Given the description of an element on the screen output the (x, y) to click on. 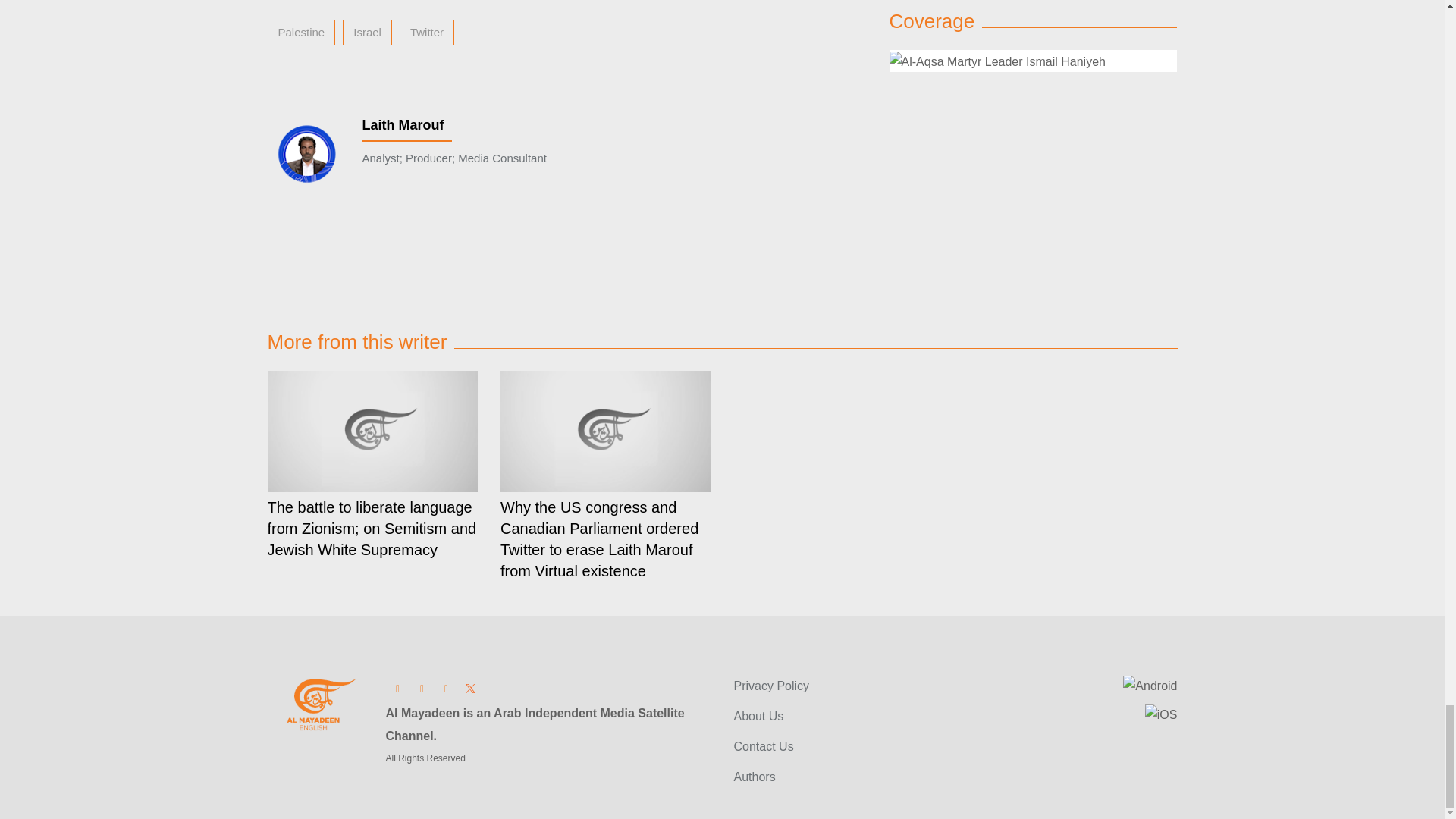
Twitter (469, 686)
